Given the description of an element on the screen output the (x, y) to click on. 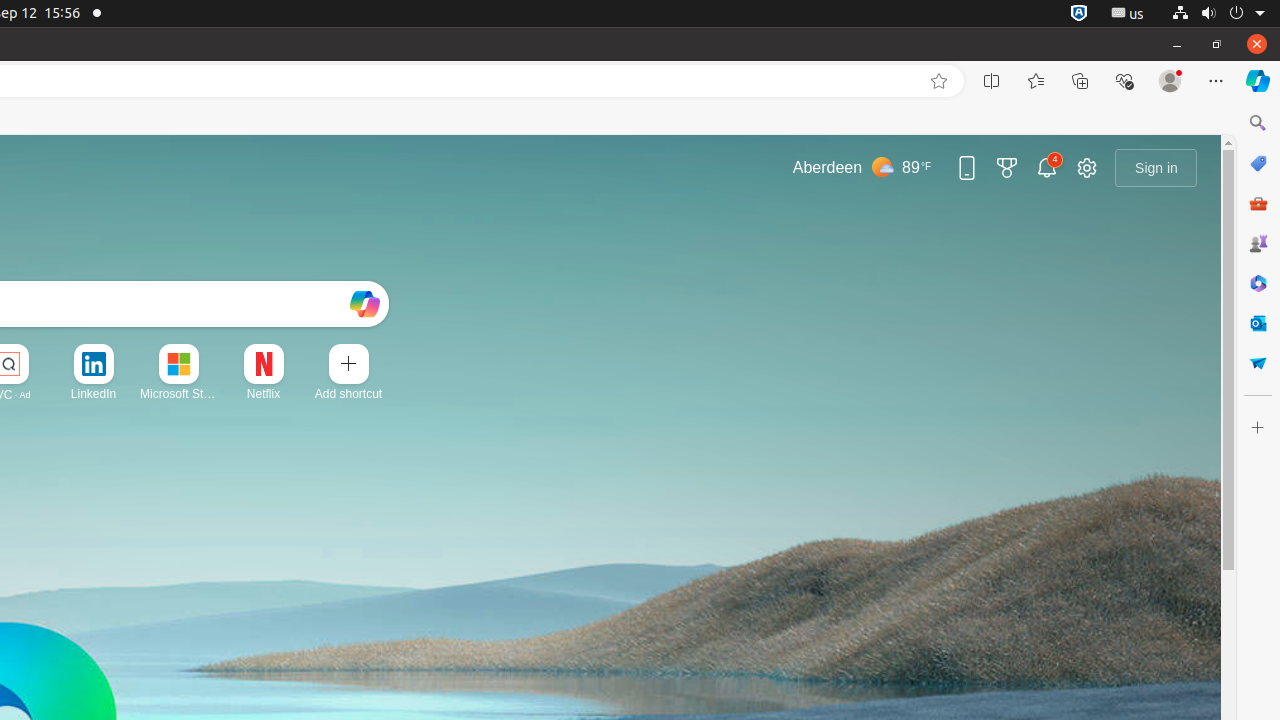
Customize Element type: push-button (1258, 428)
Microsoft Start Element type: link (178, 393)
Netflix Element type: link (263, 393)
Microsoft Shopping Element type: push-button (1258, 163)
Click to open the link to download the Microsoft Start mobile app Element type: push-button (967, 168)
